Given the description of an element on the screen output the (x, y) to click on. 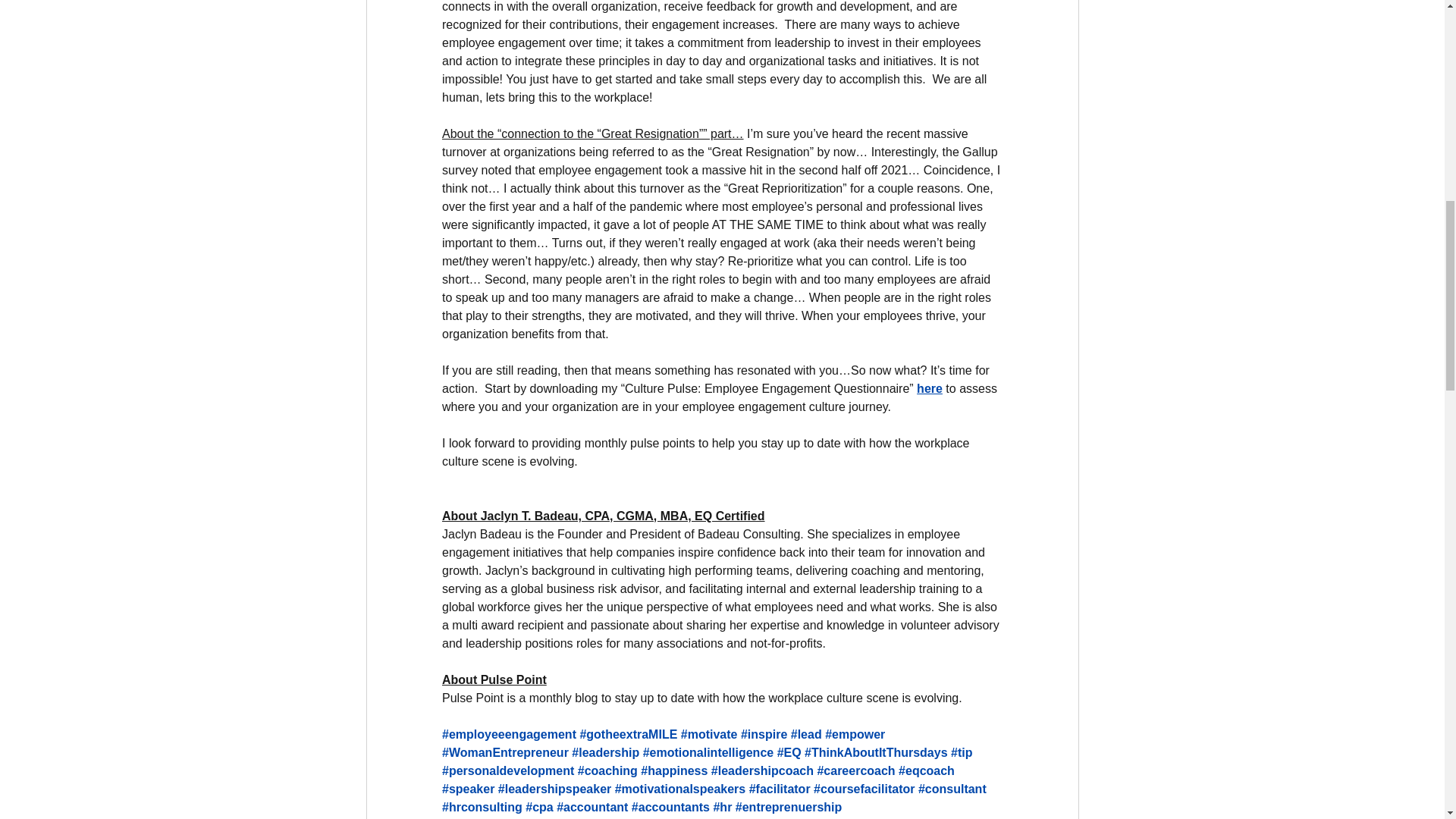
here (929, 388)
